Given the description of an element on the screen output the (x, y) to click on. 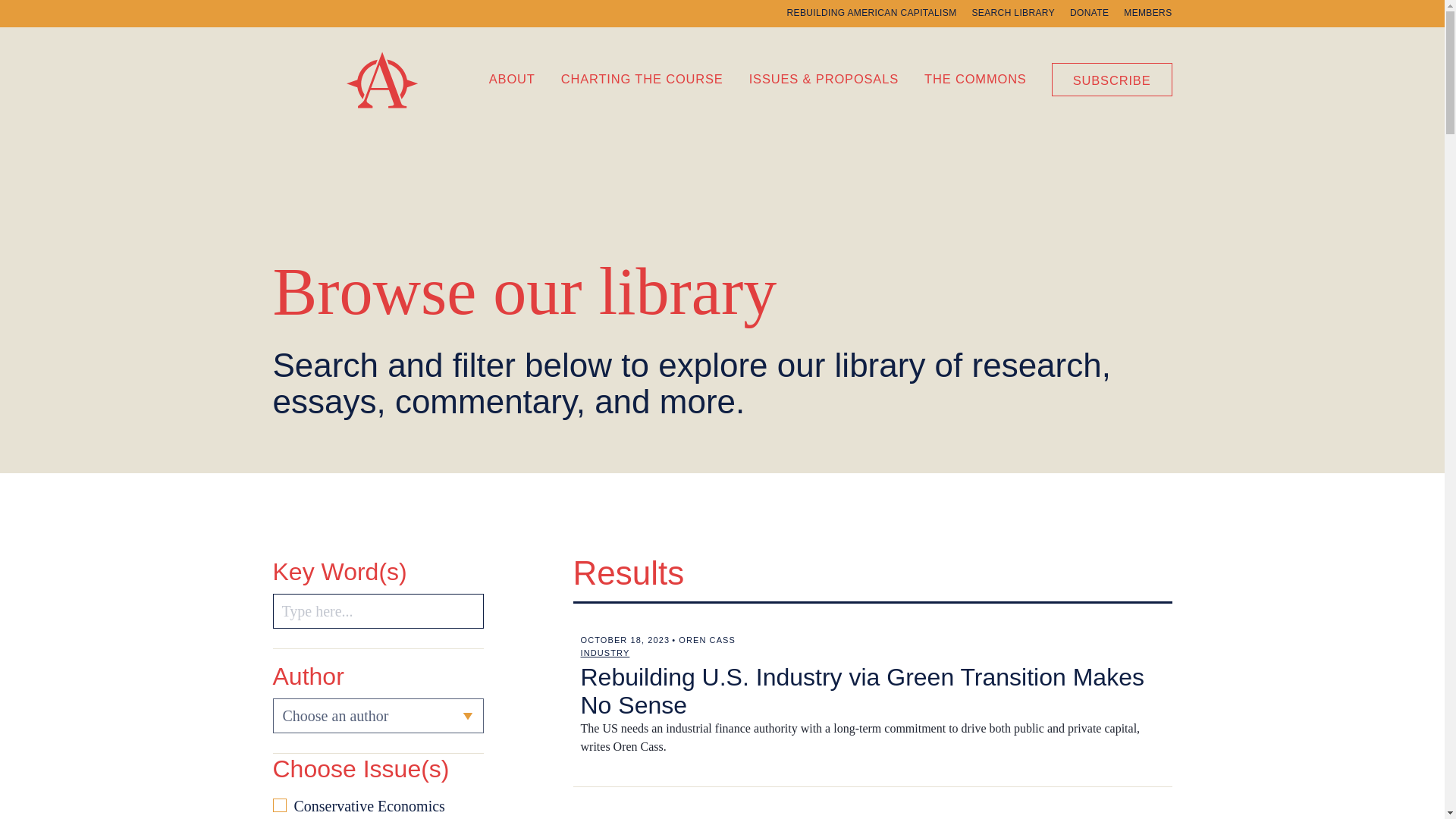
DONATE (1089, 12)
SUBSCRIBE (1111, 78)
American Compass (398, 116)
ABOUT (512, 78)
SEARCH LIBRARY (1012, 12)
MEMBERS (1148, 12)
THE COMMONS (975, 78)
REBUILDING AMERICAN CAPITALISM (871, 12)
CHARTING THE COURSE (641, 78)
conservative-economics (279, 805)
Search (378, 610)
